Given the description of an element on the screen output the (x, y) to click on. 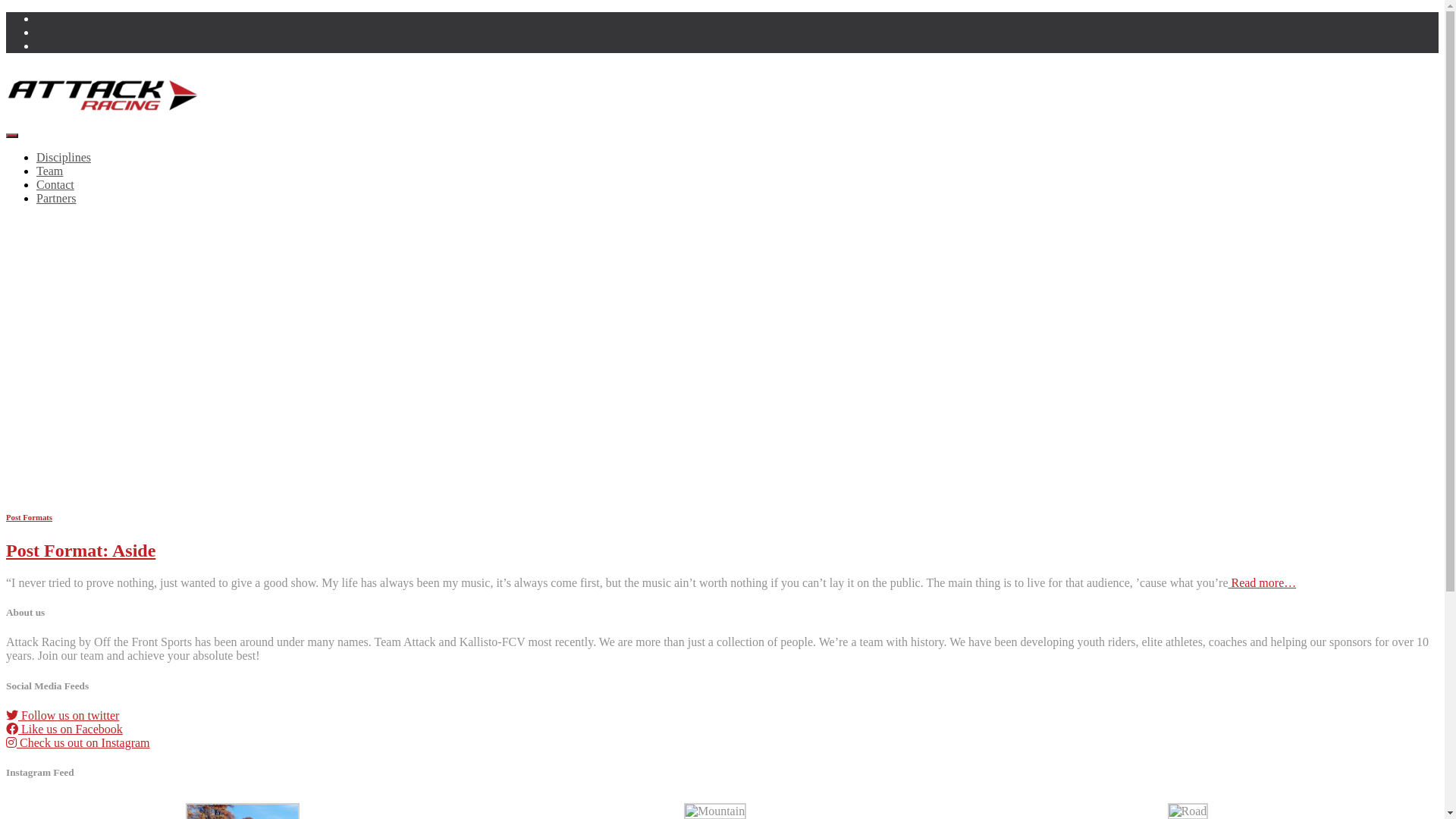
Like us on Facebook Element type: text (64, 728)
Team Element type: text (49, 170)
Attack Racing Element type: hover (102, 117)
Toggle Navigation Element type: text (12, 135)
Contact Element type: text (55, 184)
Follow us on twitter Element type: text (62, 715)
Post Formats Element type: text (29, 516)
Post Format: Aside Element type: text (80, 550)
Disciplines Element type: text (63, 156)
Partners Element type: text (55, 197)
Check us out on Instagram Element type: text (78, 742)
